Given the description of an element on the screen output the (x, y) to click on. 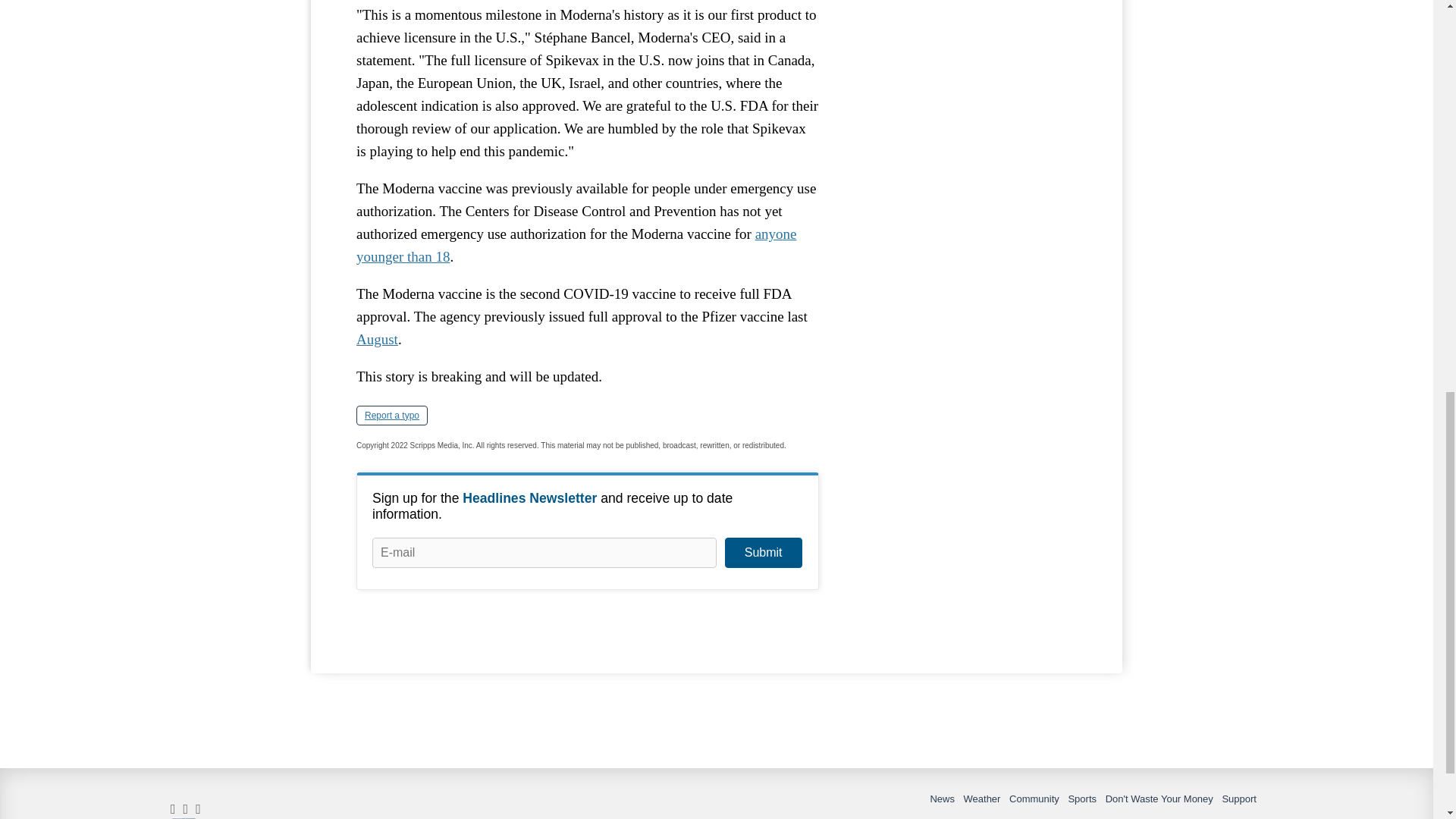
Submit (763, 552)
